Given the description of an element on the screen output the (x, y) to click on. 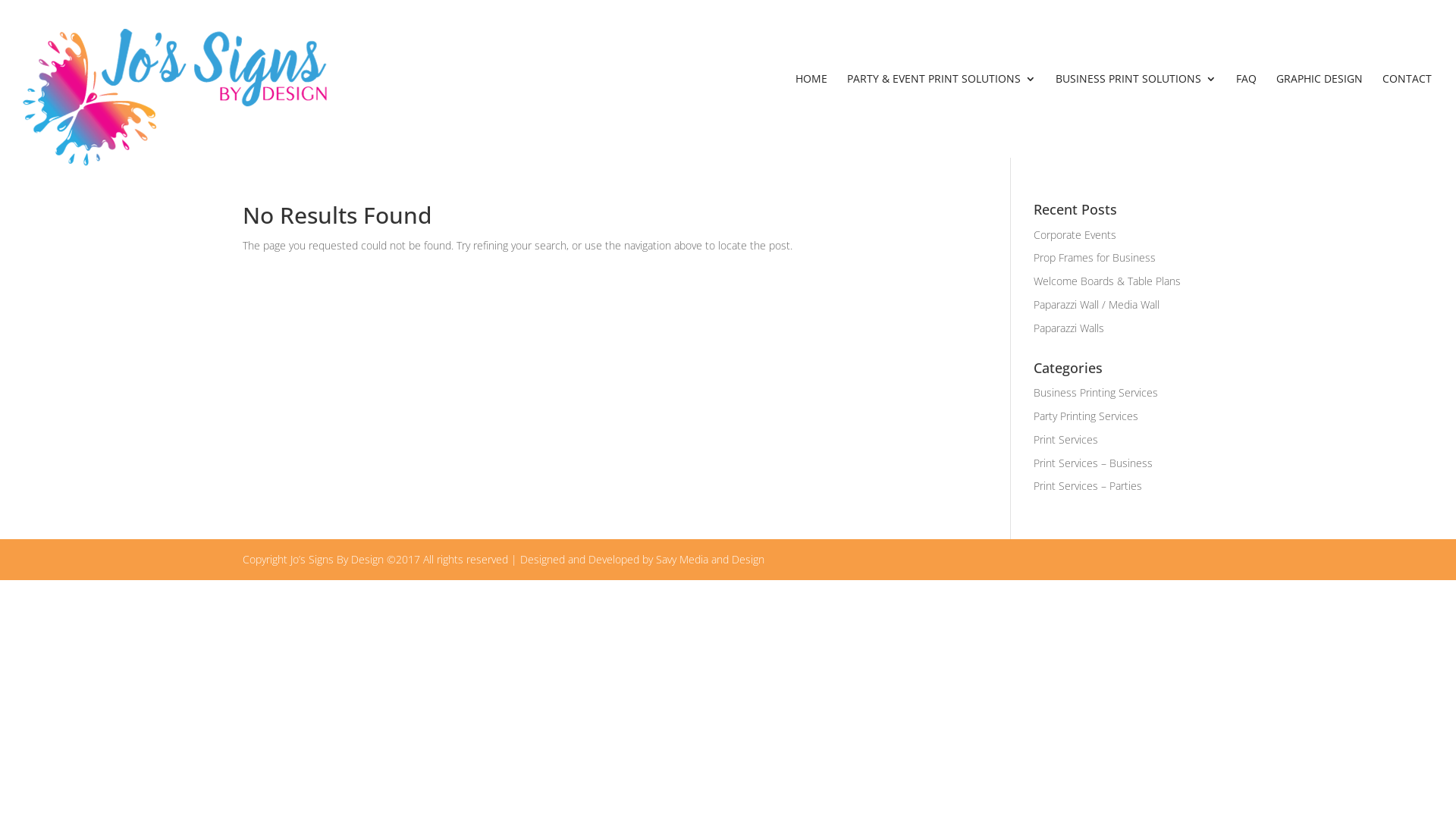
Party Printing Services Element type: text (1085, 415)
Prop Frames for Business Element type: text (1094, 257)
Paparazzi Wall / Media Wall Element type: text (1096, 304)
Paparazzi Walls Element type: text (1068, 327)
FAQ Element type: text (1246, 115)
BUSINESS PRINT SOLUTIONS Element type: text (1135, 115)
PARTY & EVENT PRINT SOLUTIONS Element type: text (941, 115)
Corporate Events Element type: text (1074, 234)
GRAPHIC DESIGN Element type: text (1319, 115)
Welcome Boards & Table Plans Element type: text (1106, 280)
Business Printing Services Element type: text (1095, 392)
CONTACT Element type: text (1406, 115)
HOME Element type: text (811, 115)
Print Services Element type: text (1065, 439)
